Given the description of an element on the screen output the (x, y) to click on. 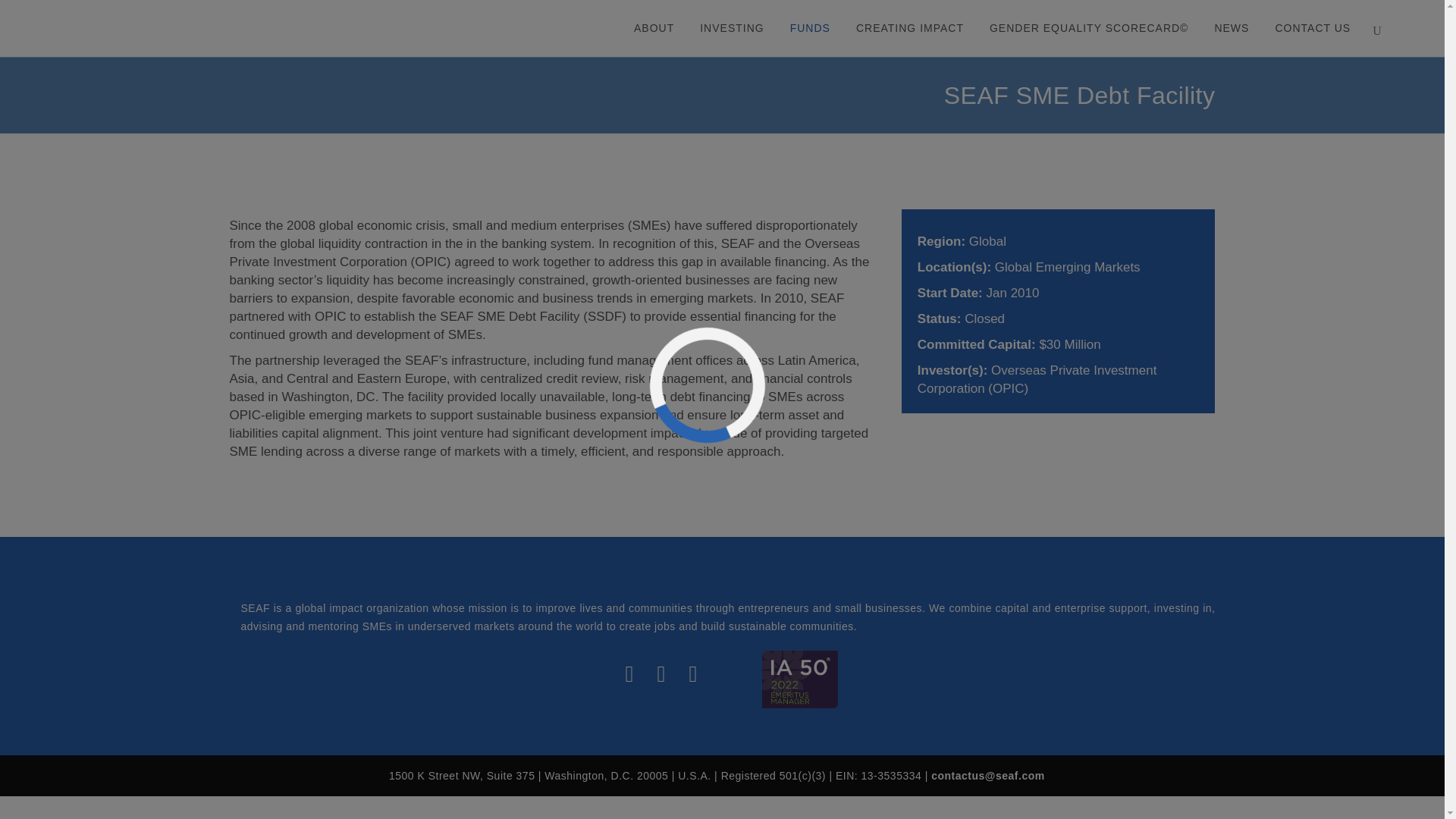
FUNDS (810, 28)
INVESTING (731, 28)
ABOUT (654, 28)
